Given the description of an element on the screen output the (x, y) to click on. 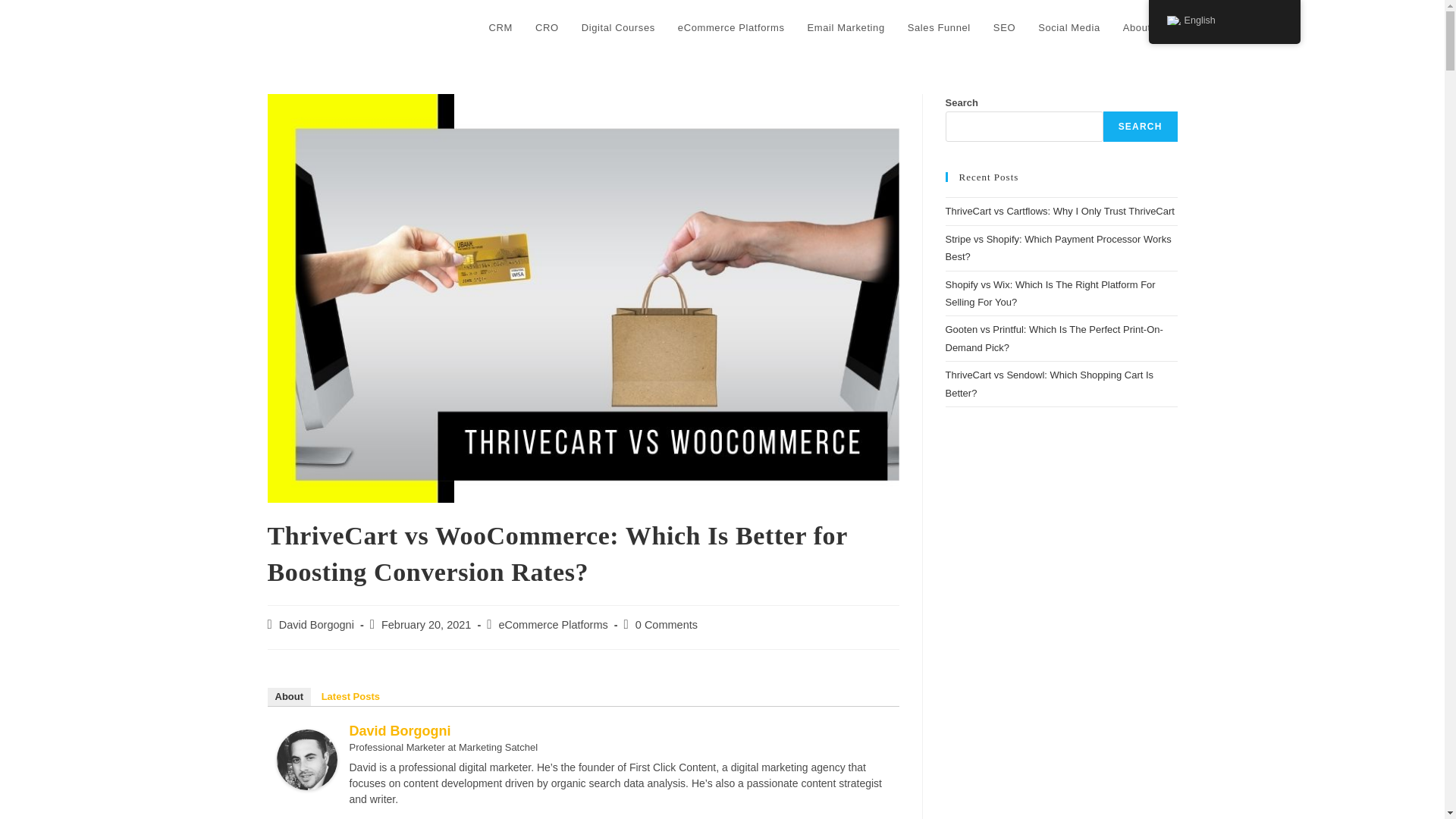
Posts by David Borgogni (316, 624)
Social Media (1069, 28)
Sales Funnel (938, 28)
eCommerce Platforms (731, 28)
David Borgogni (306, 758)
eCommerce Platforms (553, 624)
CRM (500, 28)
Toggle website search (1175, 28)
Latest Posts (350, 696)
Email Marketing (846, 28)
CRO (547, 28)
Digital Courses (618, 28)
About (288, 696)
About (1136, 28)
English (1172, 20)
